Given the description of an element on the screen output the (x, y) to click on. 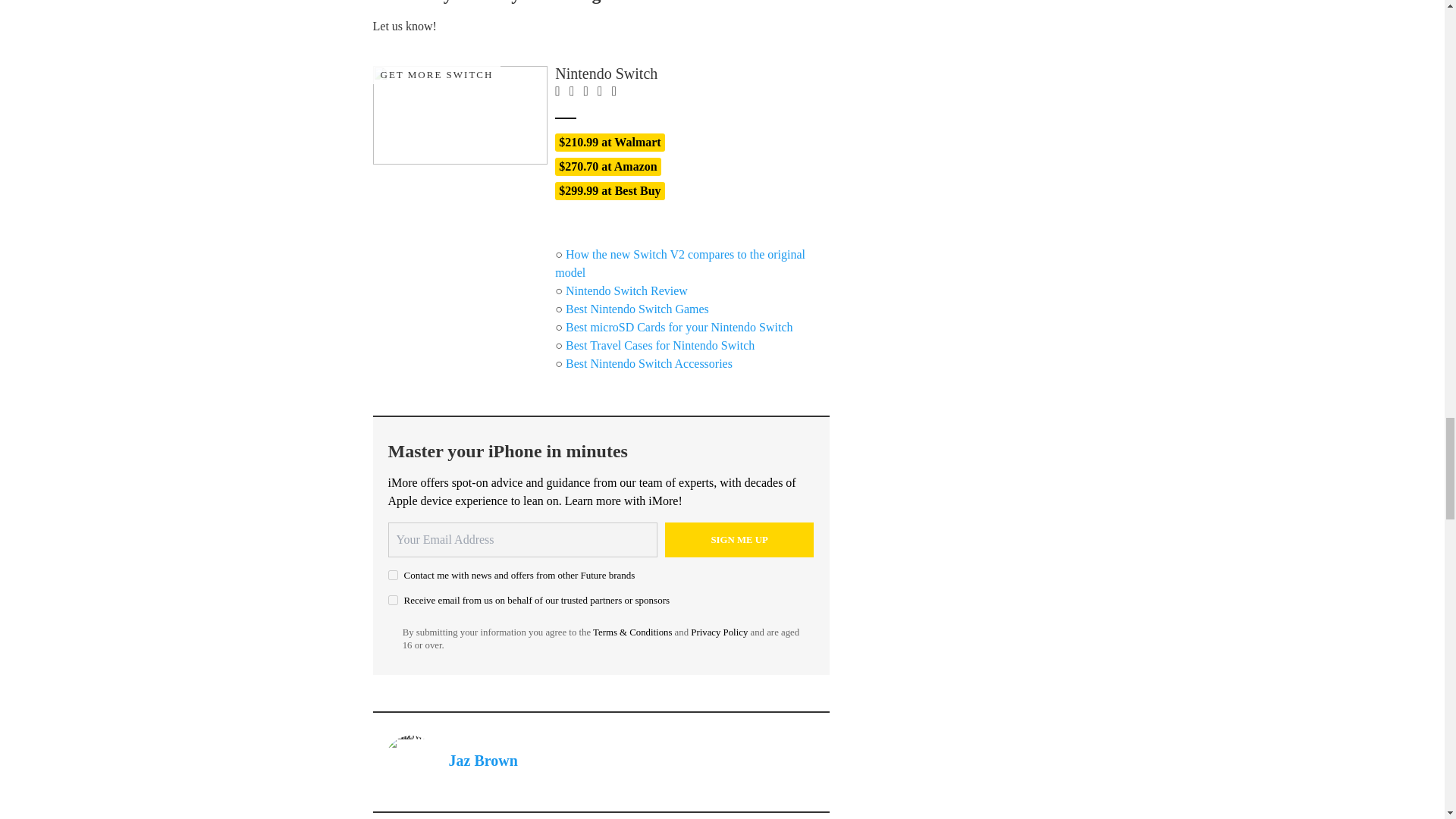
on (392, 574)
on (392, 600)
Sign me up (739, 539)
